Given the description of an element on the screen output the (x, y) to click on. 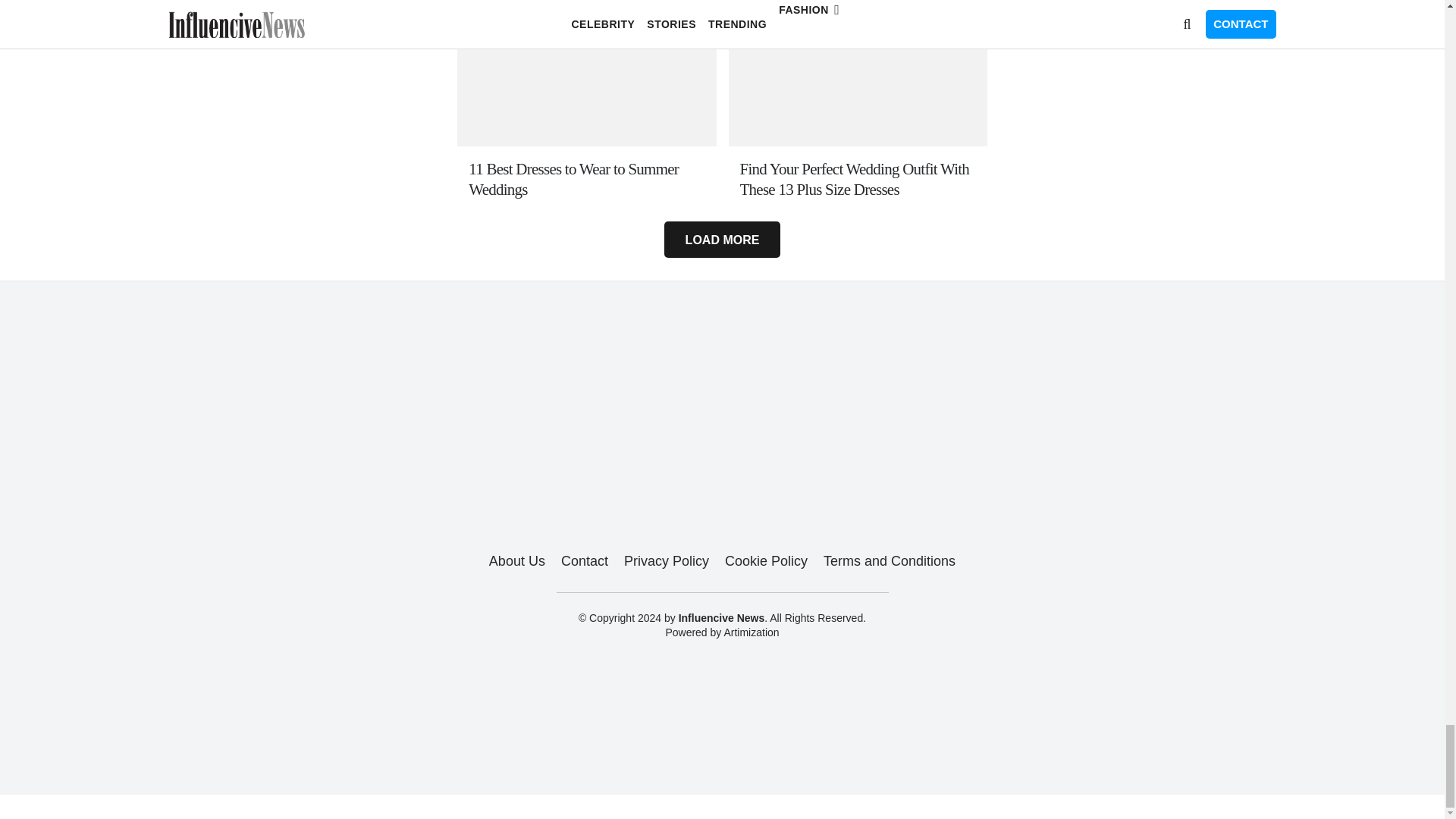
Privacy Policy (666, 560)
DMCA.com Protection Status (721, 756)
About Us (516, 560)
Contact (584, 560)
Artimization (750, 632)
LOAD MORE (720, 239)
11 Best Dresses to Wear to Summer Weddings (586, 178)
Terms and Conditions (889, 560)
Cookie Policy (766, 560)
